Given the description of an element on the screen output the (x, y) to click on. 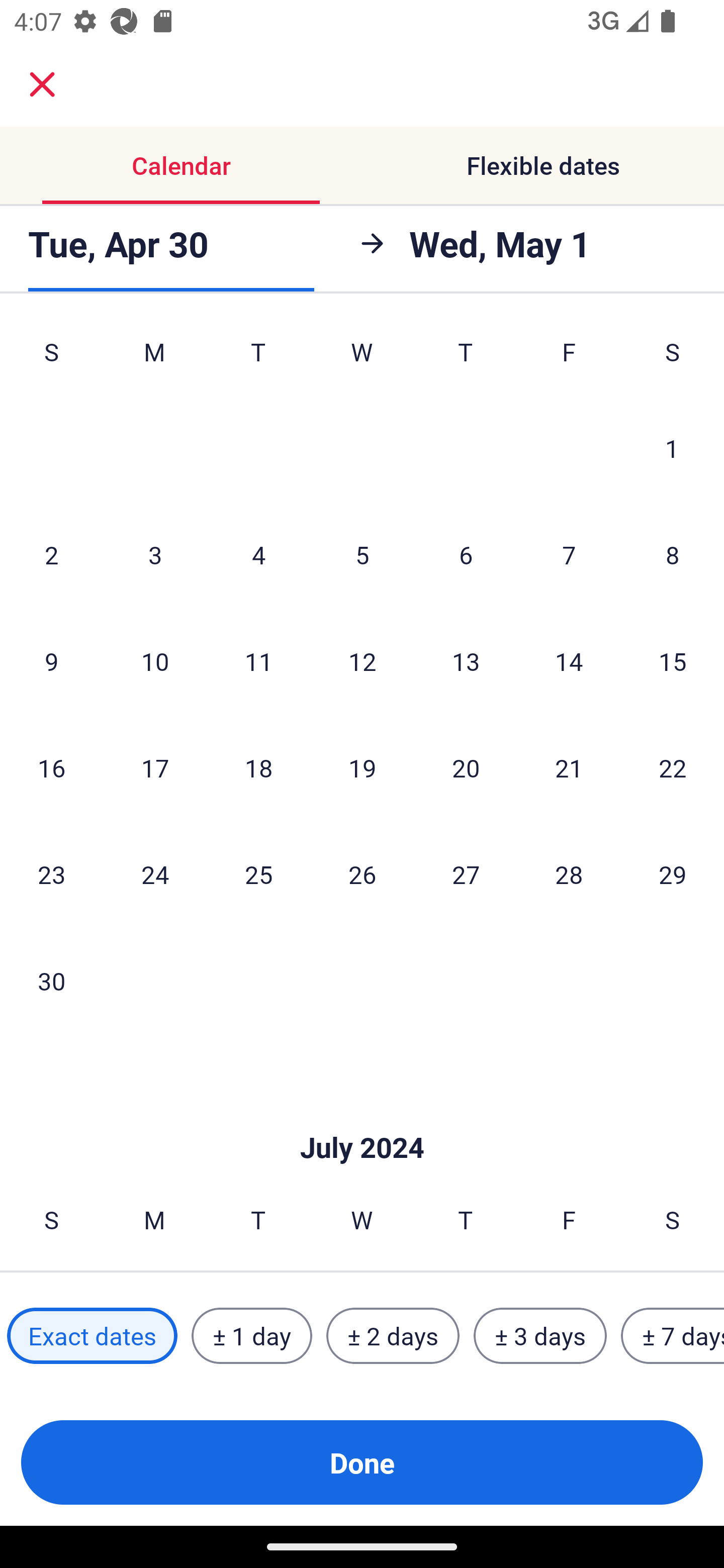
close. (42, 84)
Flexible dates (542, 164)
1 Saturday, June 1, 2024 (672, 448)
2 Sunday, June 2, 2024 (51, 554)
3 Monday, June 3, 2024 (155, 554)
4 Tuesday, June 4, 2024 (258, 554)
5 Wednesday, June 5, 2024 (362, 554)
6 Thursday, June 6, 2024 (465, 554)
7 Friday, June 7, 2024 (569, 554)
8 Saturday, June 8, 2024 (672, 554)
9 Sunday, June 9, 2024 (51, 660)
10 Monday, June 10, 2024 (155, 660)
11 Tuesday, June 11, 2024 (258, 660)
12 Wednesday, June 12, 2024 (362, 660)
13 Thursday, June 13, 2024 (465, 660)
14 Friday, June 14, 2024 (569, 660)
15 Saturday, June 15, 2024 (672, 660)
16 Sunday, June 16, 2024 (51, 767)
17 Monday, June 17, 2024 (155, 767)
18 Tuesday, June 18, 2024 (258, 767)
19 Wednesday, June 19, 2024 (362, 767)
20 Thursday, June 20, 2024 (465, 767)
21 Friday, June 21, 2024 (569, 767)
22 Saturday, June 22, 2024 (672, 767)
23 Sunday, June 23, 2024 (51, 874)
24 Monday, June 24, 2024 (155, 874)
25 Tuesday, June 25, 2024 (258, 874)
26 Wednesday, June 26, 2024 (362, 874)
27 Thursday, June 27, 2024 (465, 874)
28 Friday, June 28, 2024 (569, 874)
29 Saturday, June 29, 2024 (672, 874)
30 Sunday, June 30, 2024 (51, 980)
Skip to Done (362, 1117)
Exact dates (92, 1335)
± 1 day (251, 1335)
± 2 days (392, 1335)
± 3 days (539, 1335)
± 7 days (672, 1335)
Done (361, 1462)
